Given the description of an element on the screen output the (x, y) to click on. 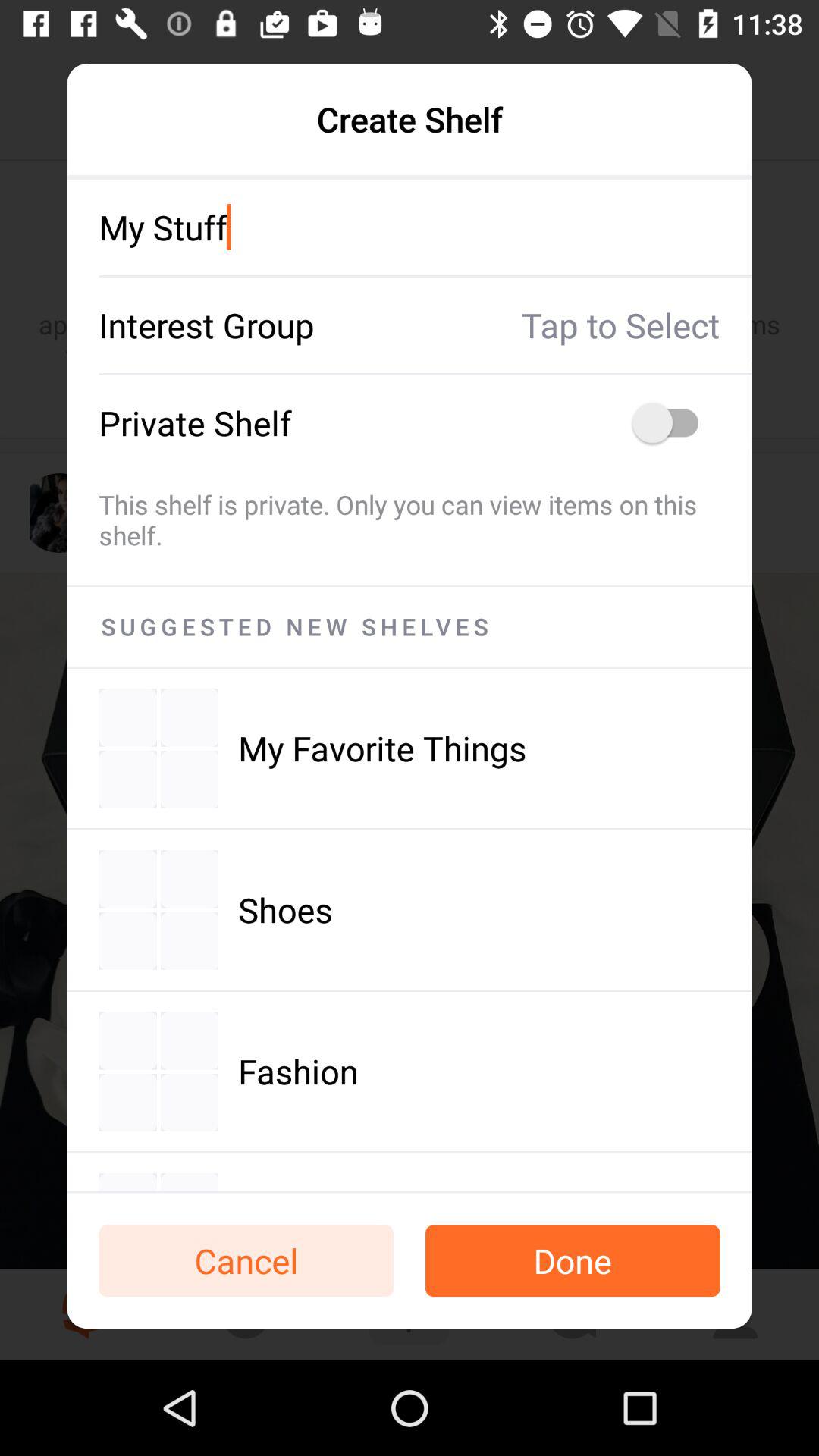
enable private (672, 422)
